Given the description of an element on the screen output the (x, y) to click on. 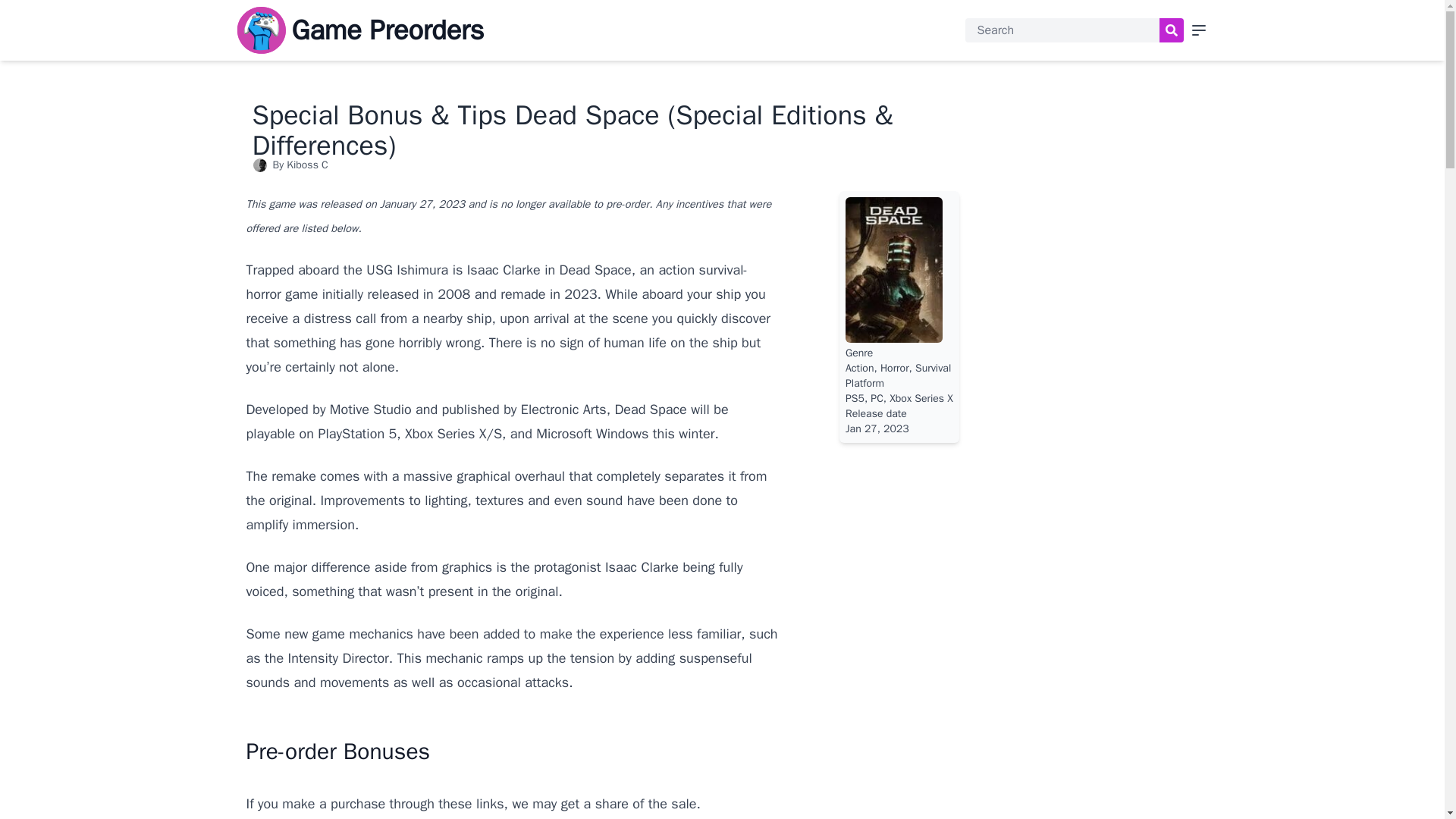
PC (876, 398)
Kiboss C (307, 164)
Horror (894, 367)
Game Preorders (387, 30)
PS5 (854, 398)
Survival (932, 367)
Xbox Series X (921, 398)
Enter your search terms here (1060, 30)
Action (859, 367)
